Given the description of an element on the screen output the (x, y) to click on. 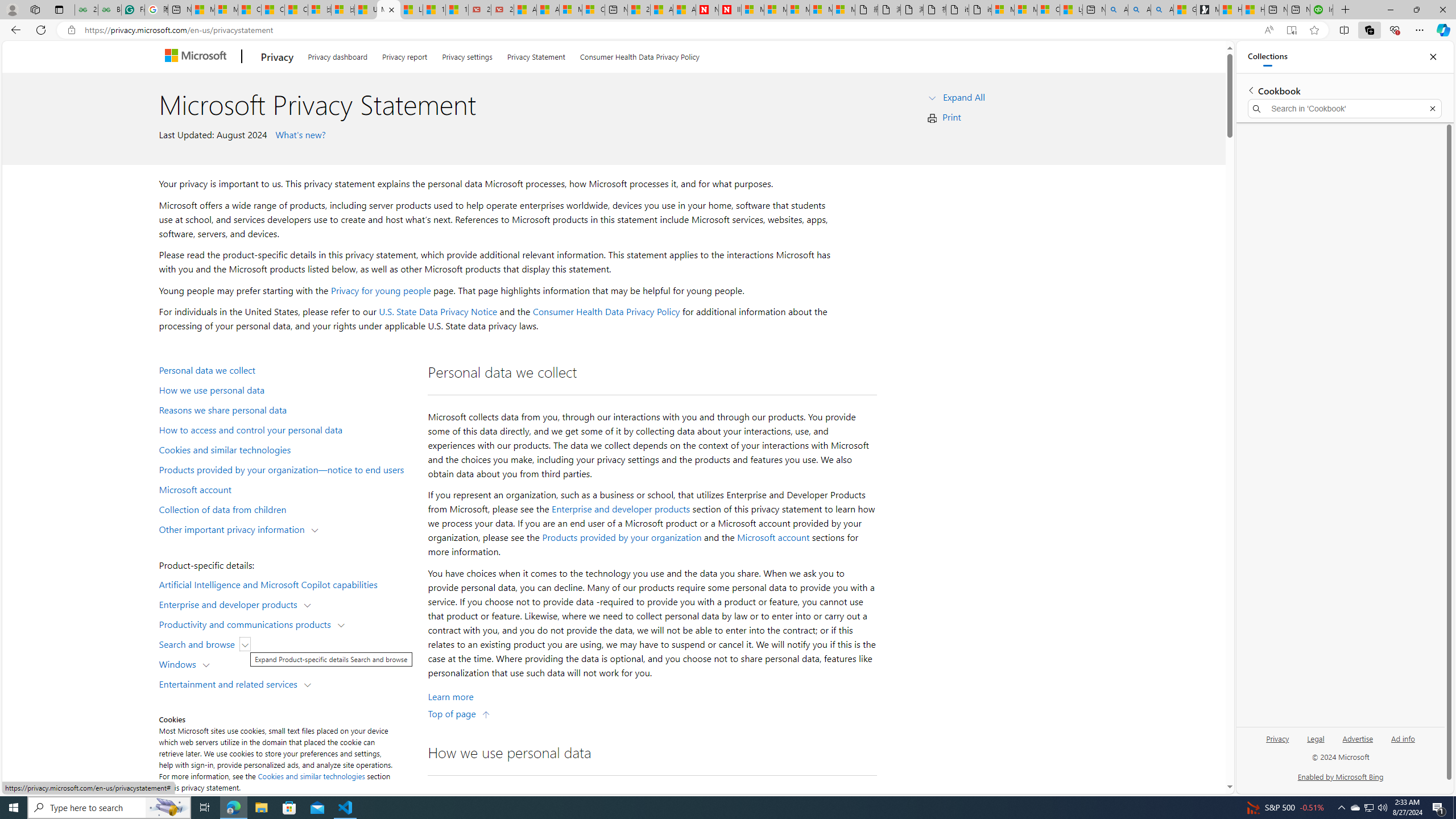
15 Ways Modern Life Contradicts the Teachings of Jesus (457, 9)
Intuit QuickBooks Online - Quickbooks (1321, 9)
U.S. State Data Privacy Notice (437, 311)
Privacy settings (466, 54)
Reasons we share personal data (287, 409)
Consumer Health Data Privacy Policy (639, 54)
Consumer Health Data Privacy Policy (605, 311)
